Given the description of an element on the screen output the (x, y) to click on. 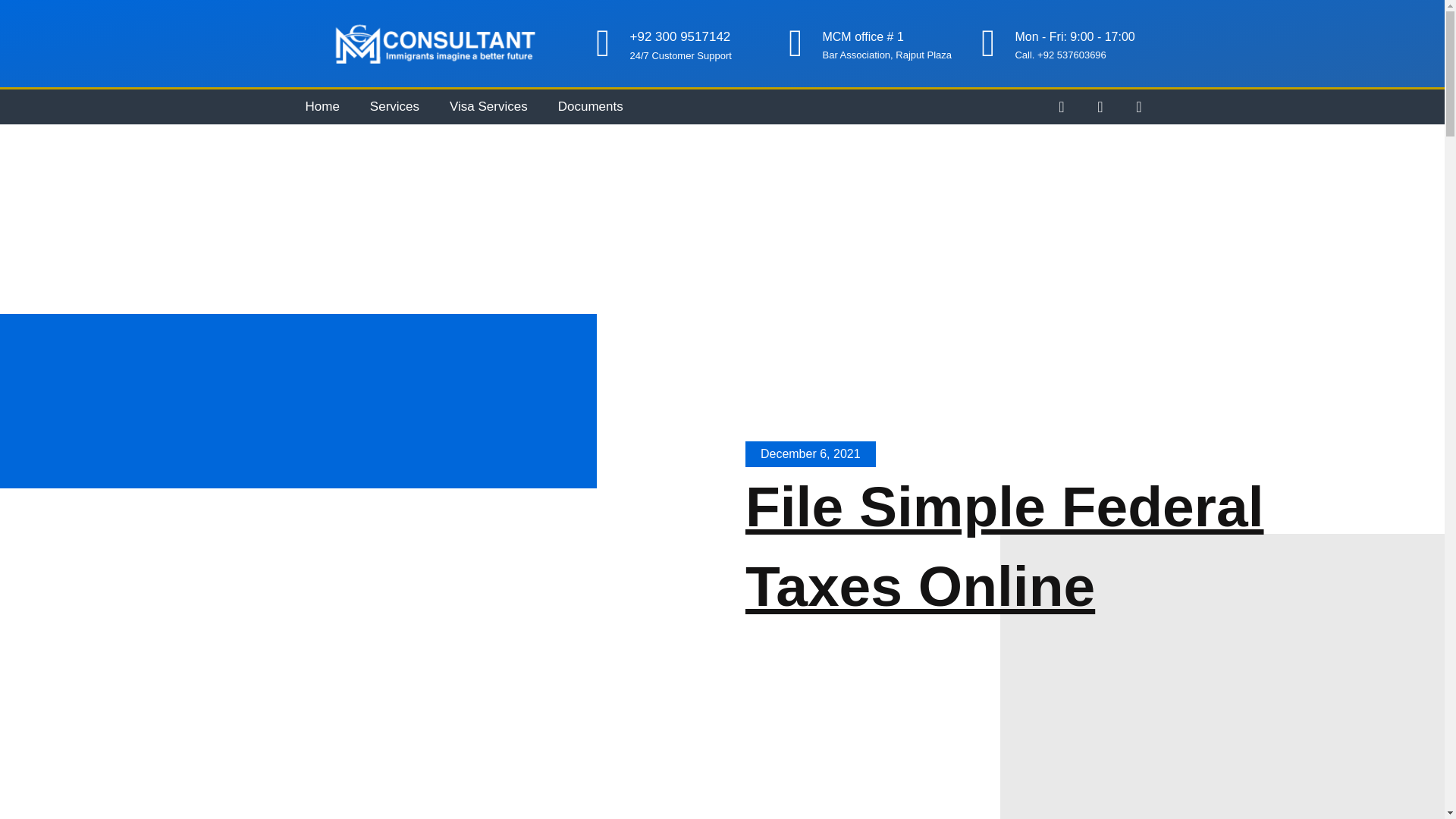
Services (394, 106)
Home (321, 106)
Visa Services (488, 106)
Documents (591, 106)
